Given the description of an element on the screen output the (x, y) to click on. 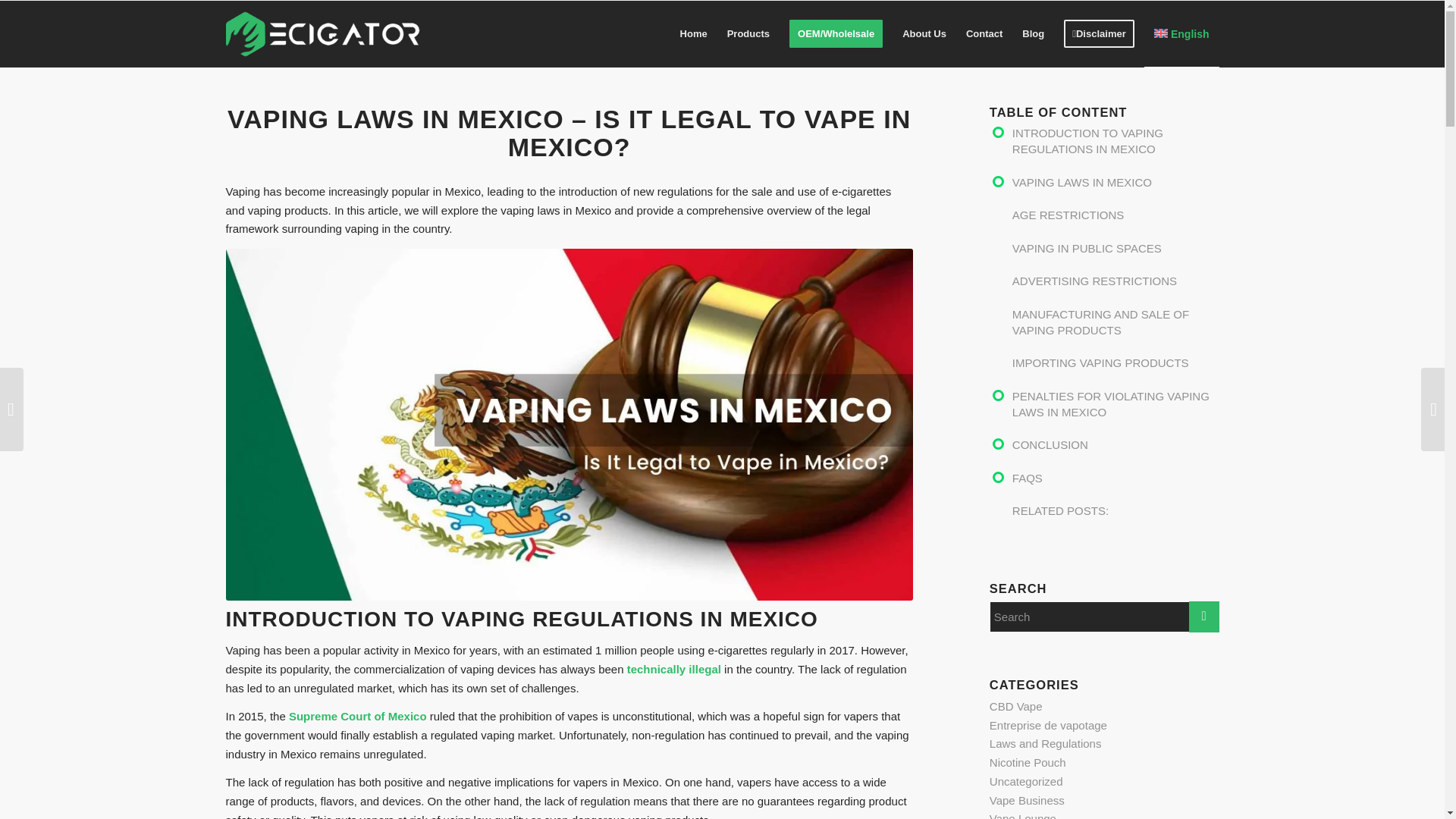
English (1182, 33)
About Us (924, 33)
Products (747, 33)
ecigator logo white (322, 33)
English (1182, 33)
